Given the description of an element on the screen output the (x, y) to click on. 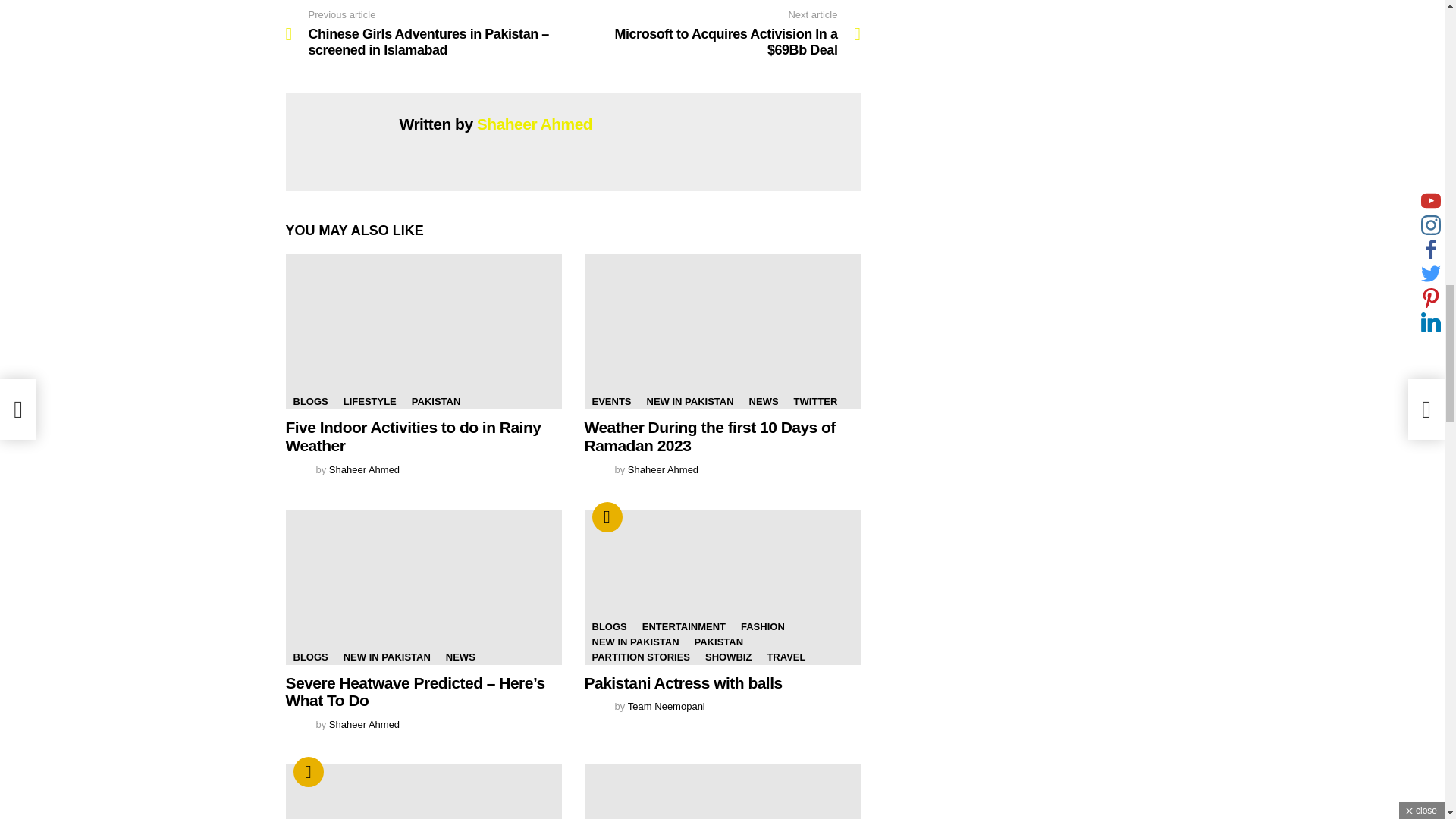
Pakistani Actress with balls (721, 587)
Five Indoor Activities to do in Rainy Weather (422, 331)
Posts by Shaheer Ahmed (363, 469)
NEWS (763, 401)
Shaheer Ahmed (534, 123)
Hot (606, 517)
Posts by Shaheer Ahmed (363, 724)
LIFESTYLE (370, 401)
EVENTS (611, 401)
BLOGS (309, 401)
